Given the description of an element on the screen output the (x, y) to click on. 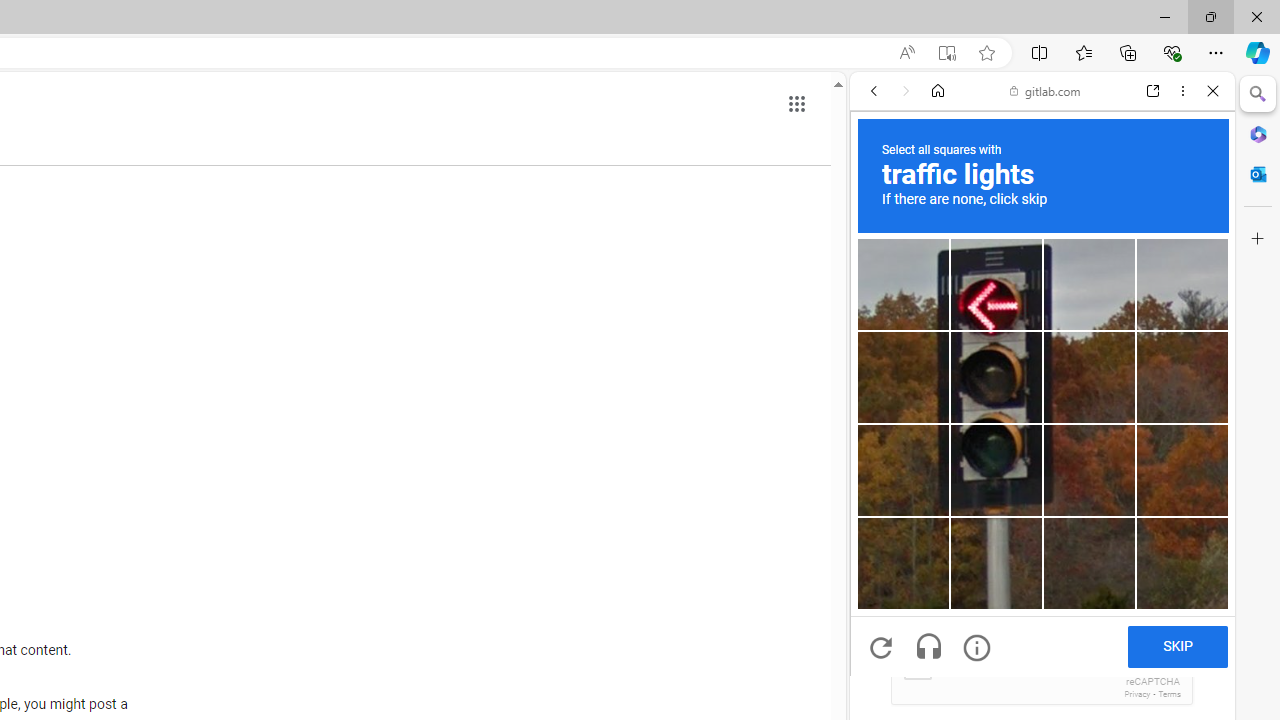
GitLab.com (1042, 333)
Close Search pane (1258, 94)
Image challenge (996, 470)
I'm not a robot (916, 664)
Register Now (1042, 445)
Get a new challenge (880, 647)
